Given the description of an element on the screen output the (x, y) to click on. 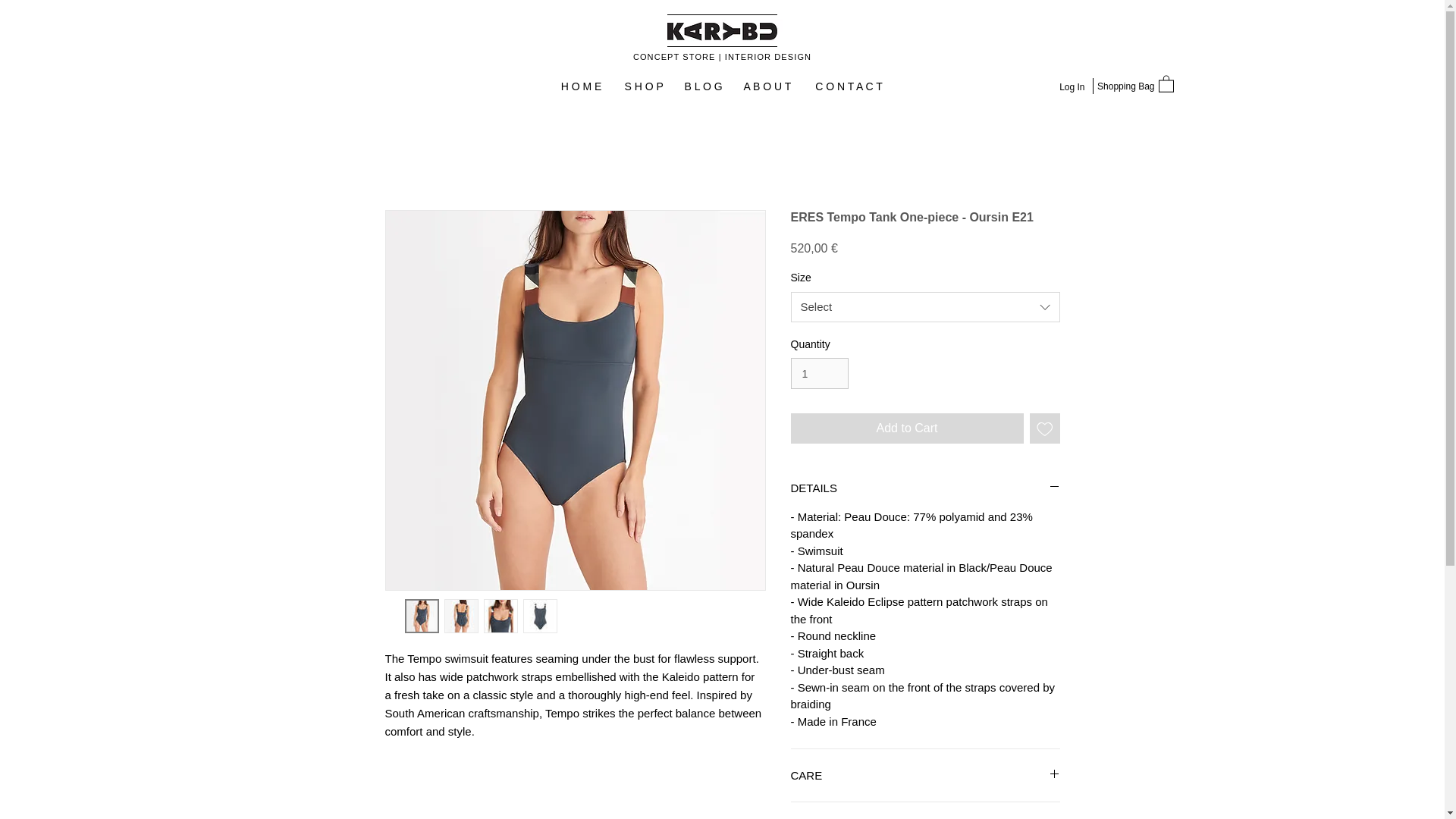
C O N T A C T (848, 86)
CARE (924, 774)
Select (924, 306)
DETAILS (924, 487)
B L O G (702, 86)
Add to Cart (906, 428)
S H O P (642, 86)
Site Search (296, 87)
Log In (1071, 87)
H O M E (580, 86)
